Given the description of an element on the screen output the (x, y) to click on. 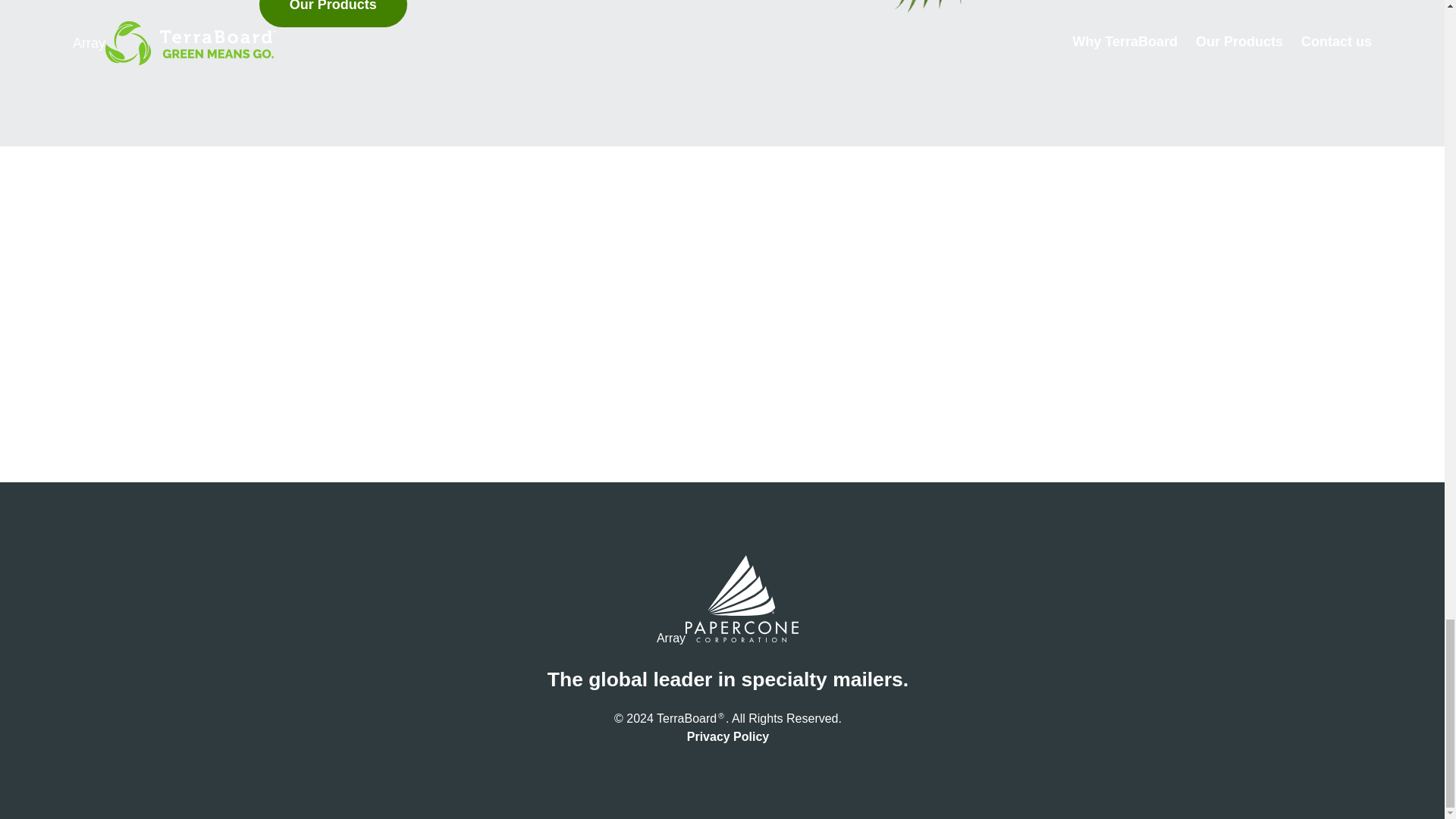
Array (727, 601)
Our Products (333, 13)
Privacy Policy (728, 737)
